Given the description of an element on the screen output the (x, y) to click on. 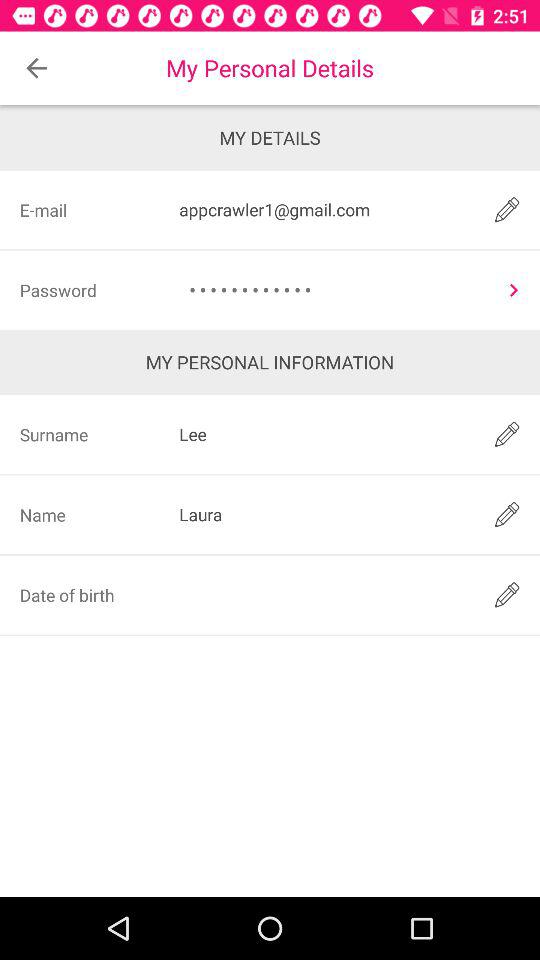
select item to the right of the e-mail (323, 209)
